Given the description of an element on the screen output the (x, y) to click on. 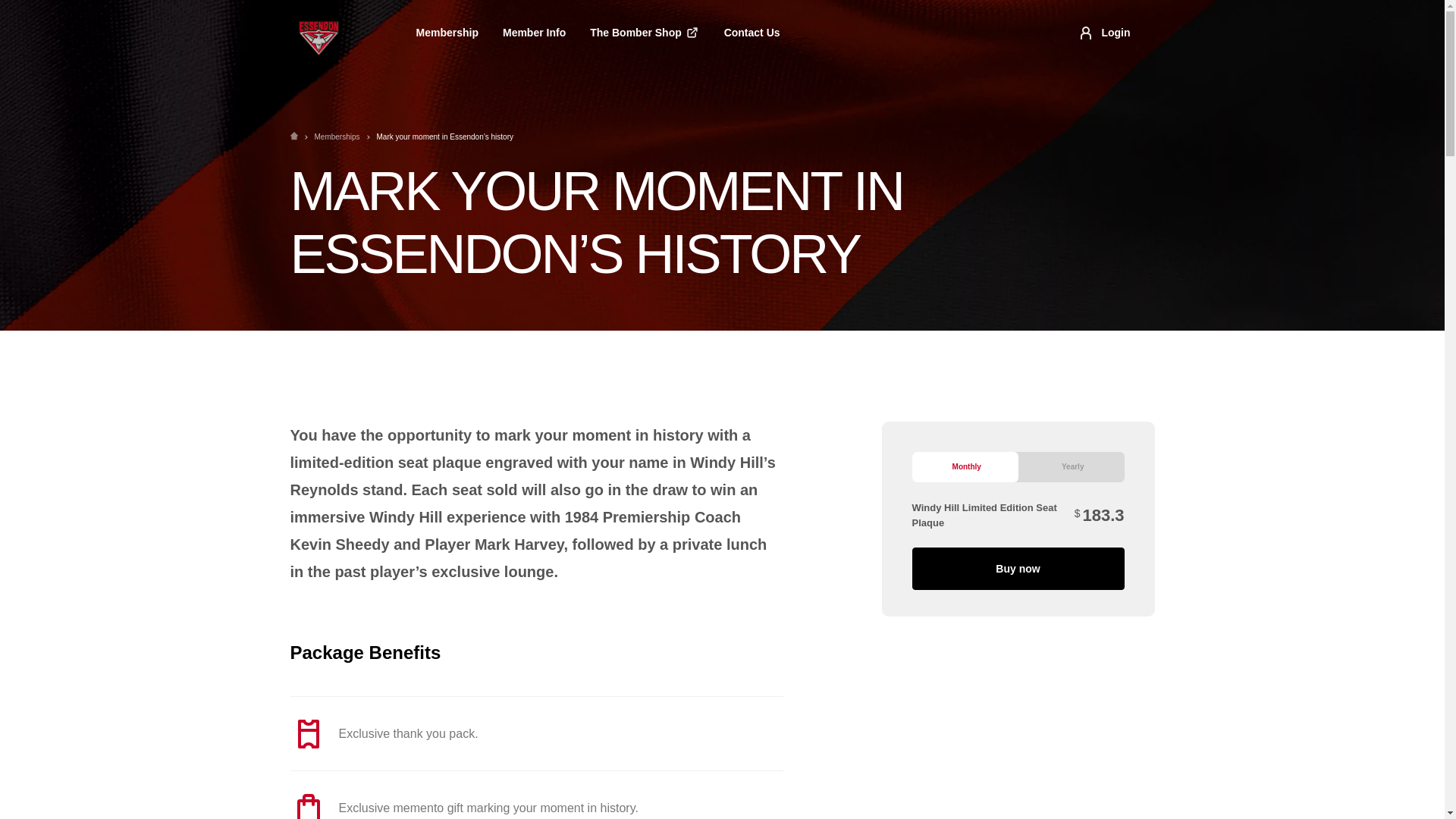
Membership (446, 32)
Buy now (1017, 568)
The Bomber Shop (644, 33)
Login (1103, 33)
Member Info (534, 32)
Contact Us (751, 32)
Memberships (336, 136)
